Given the description of an element on the screen output the (x, y) to click on. 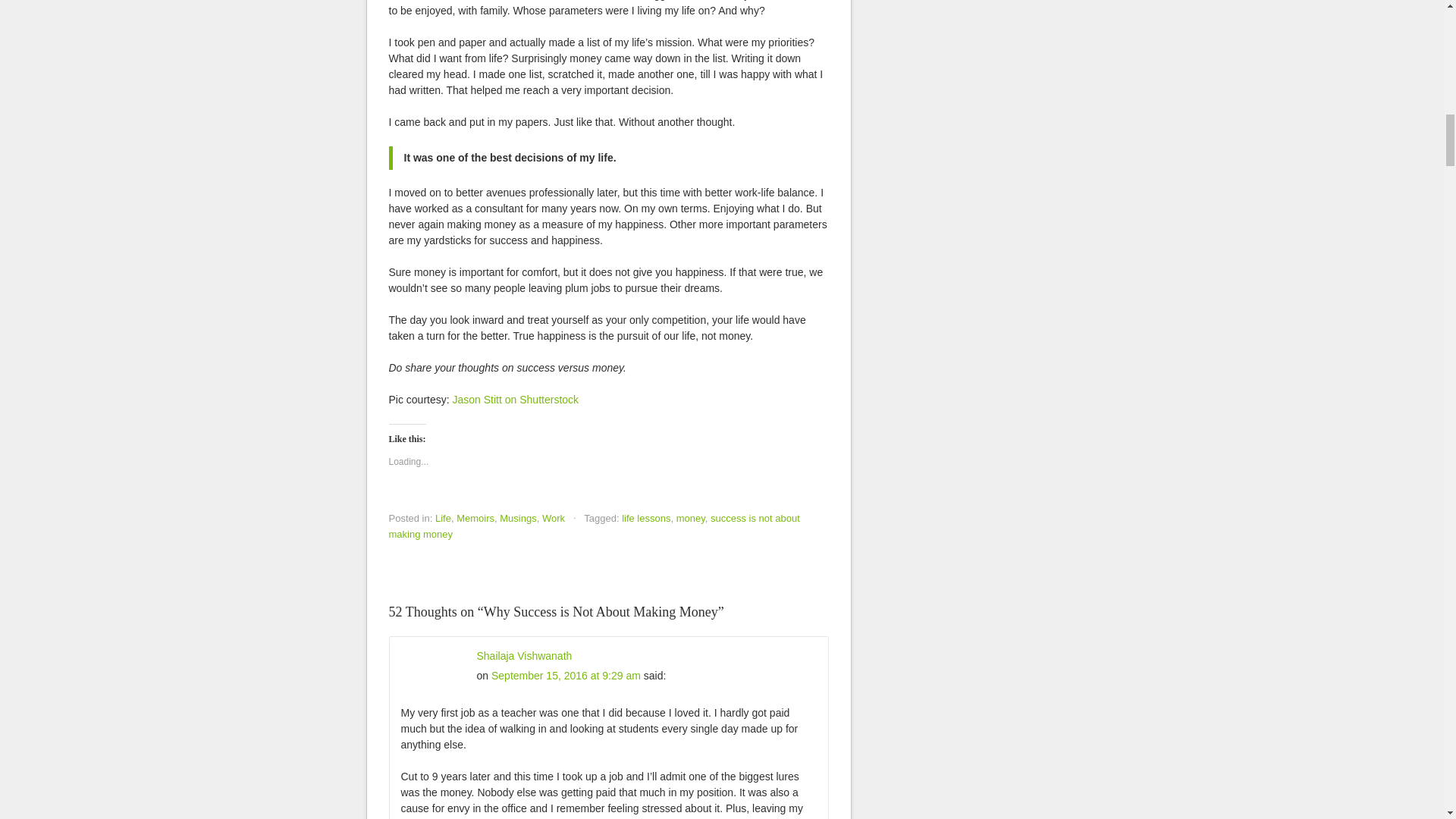
money (690, 518)
Memoirs (476, 518)
Life (443, 518)
Jason Stitt on Shutterstock (515, 399)
Musings (517, 518)
Work (552, 518)
success is not about making money (593, 525)
life lessons (645, 518)
